Given the description of an element on the screen output the (x, y) to click on. 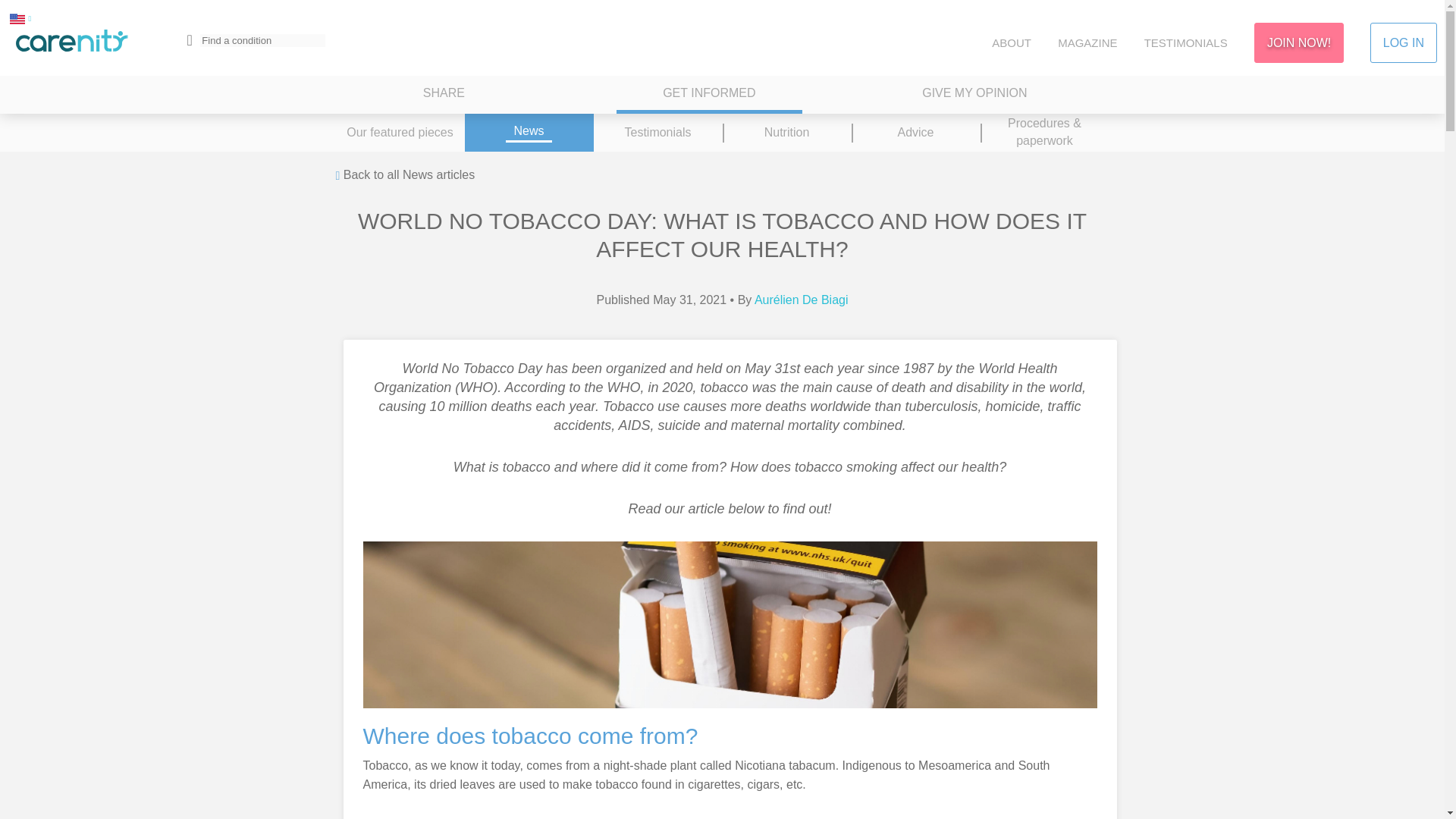
MAGAZINE (1087, 42)
LOG IN (1403, 42)
Advice (914, 132)
News (528, 132)
Back to all News articles (404, 175)
TESTIMONIALS (1185, 42)
JOIN NOW! (1298, 42)
Testimonials (657, 132)
GET INFORMED (708, 94)
USA (17, 18)
GIVE MY OPINION (974, 94)
ABOUT (1010, 42)
SHARE (443, 94)
Nutrition (786, 132)
Our featured pieces (399, 132)
